Given the description of an element on the screen output the (x, y) to click on. 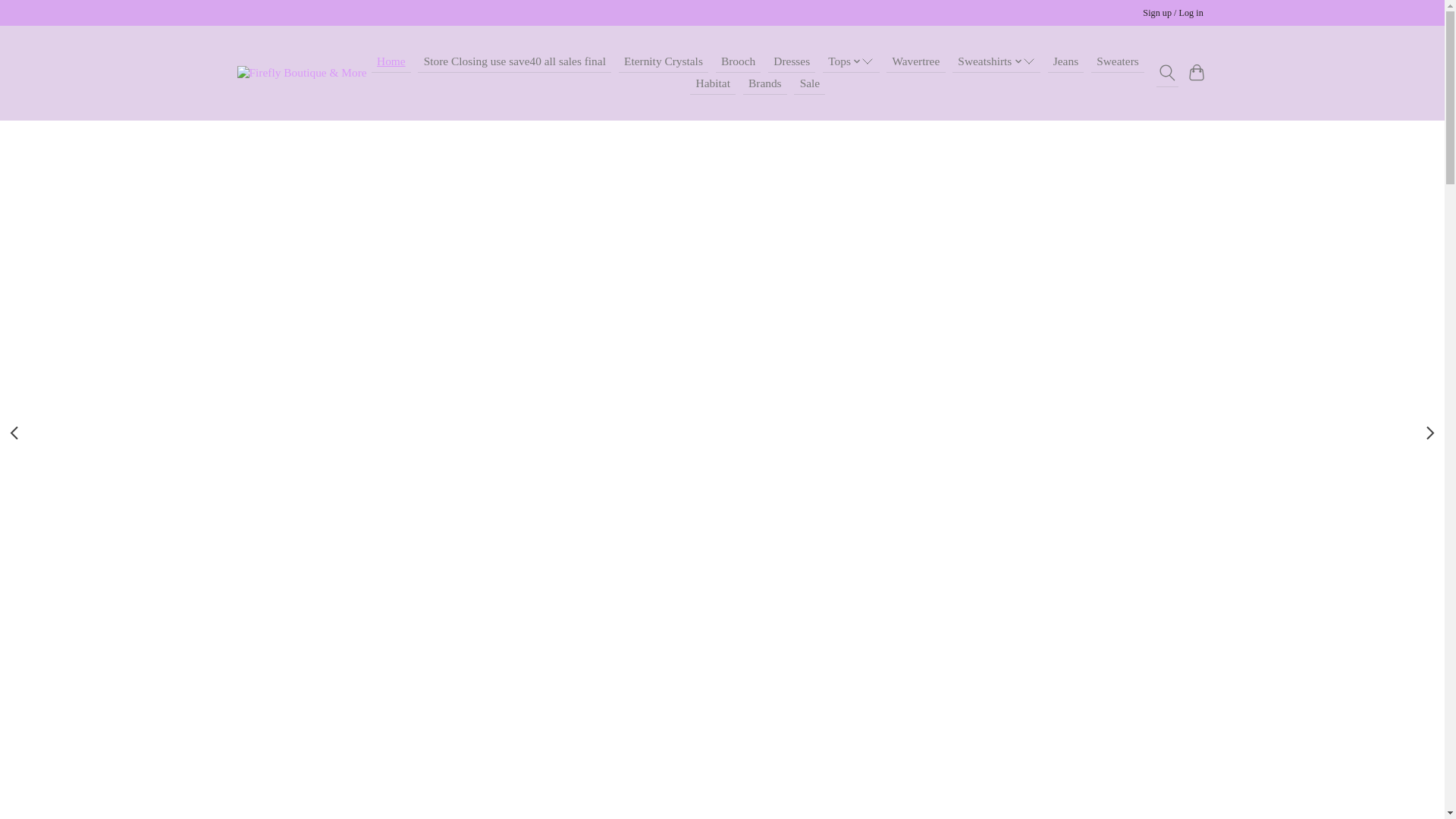
Brooch (738, 61)
Sweatshirts (996, 61)
Wavertree (915, 61)
Brands (764, 83)
Dresses (791, 61)
Eternity Crystals (662, 61)
Home (390, 61)
Habitat (712, 83)
Jeans (1066, 61)
Tops (850, 61)
